Given the description of an element on the screen output the (x, y) to click on. 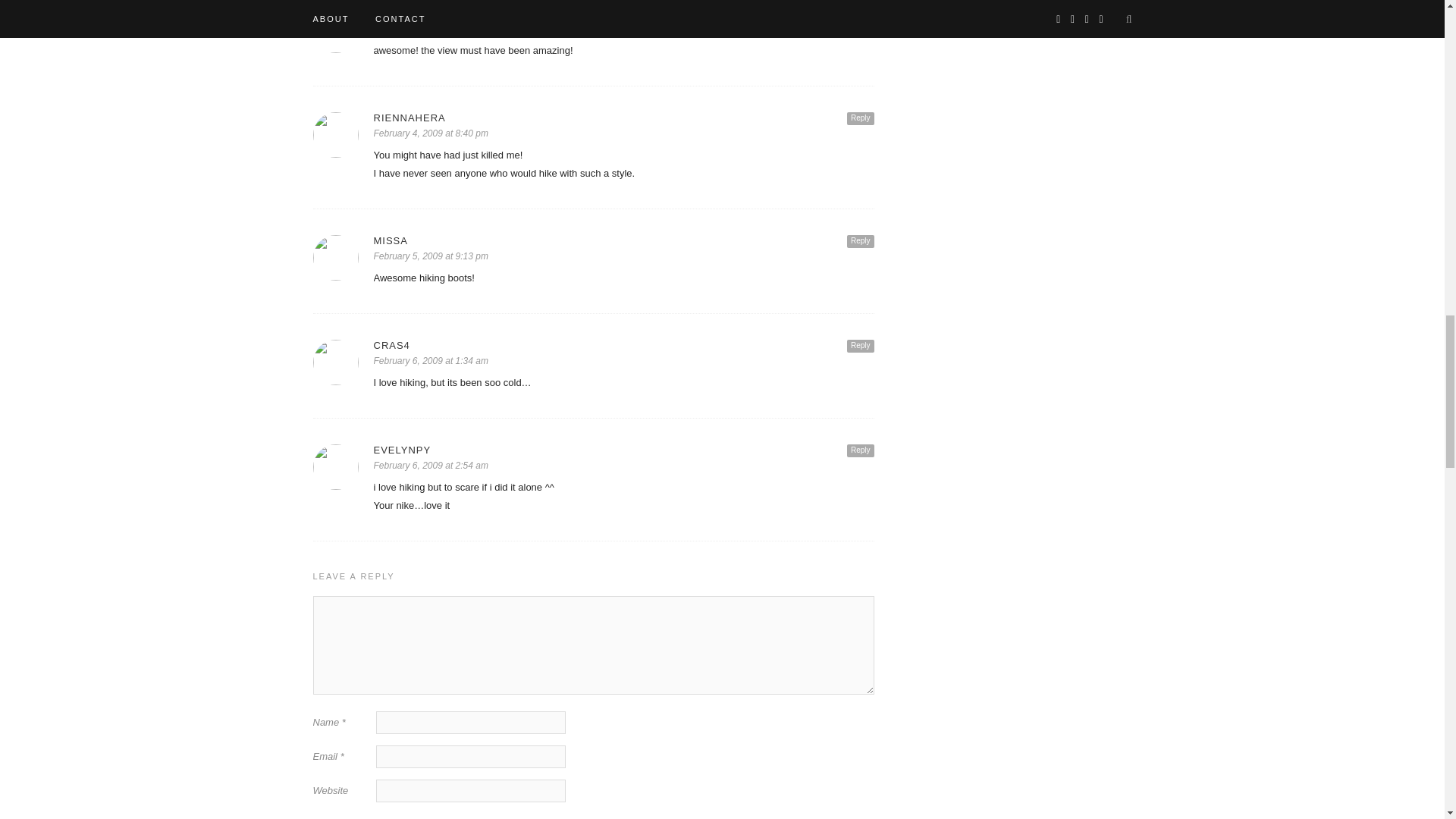
Reply (861, 118)
Reply (861, 241)
FASHION TIDBITS (622, 12)
MISSA (622, 240)
RIENNAHERA (622, 117)
Reply (861, 345)
Reply (861, 13)
